Given the description of an element on the screen output the (x, y) to click on. 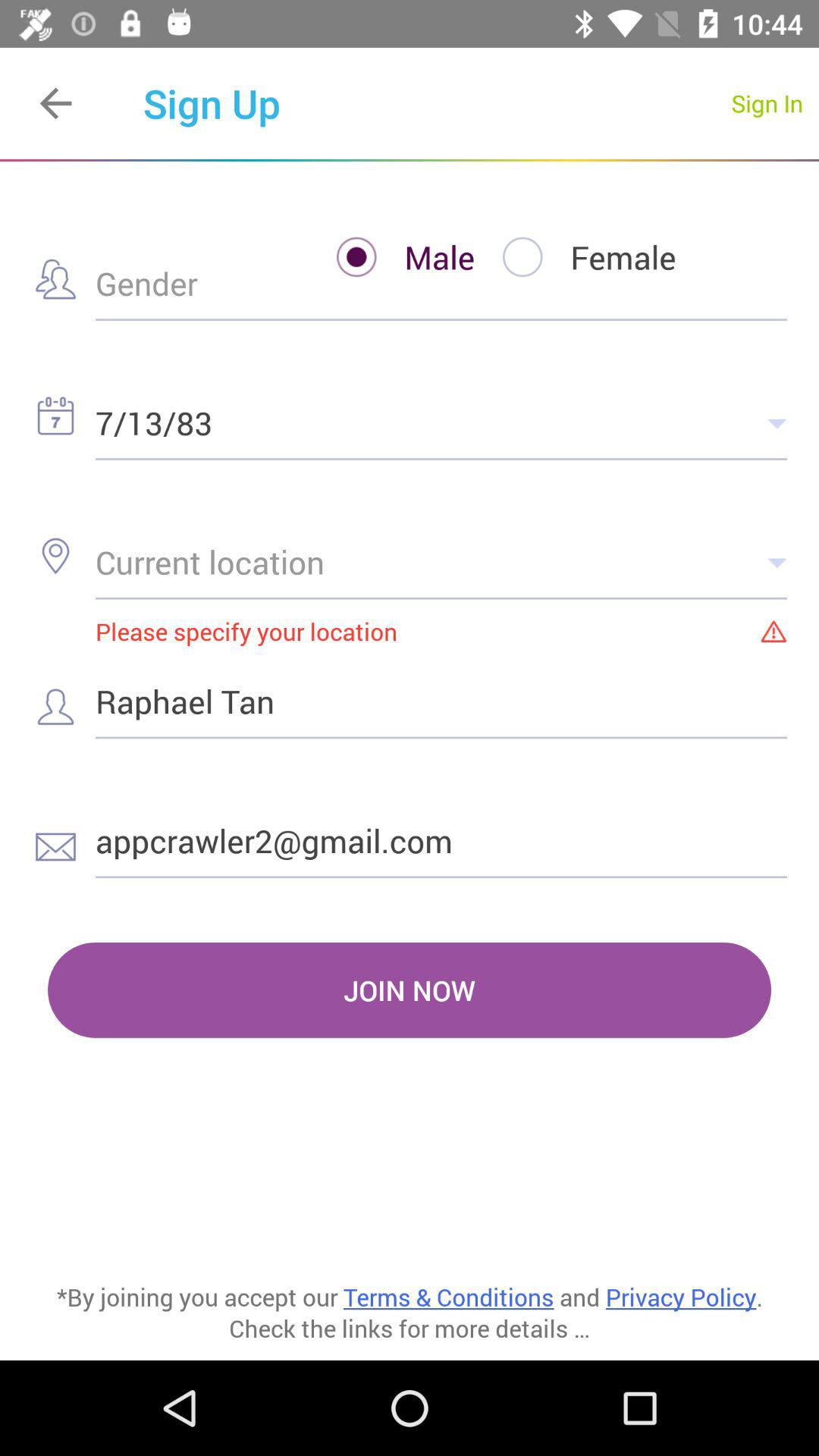
open the item to the right of the male item (575, 256)
